Given the description of an element on the screen output the (x, y) to click on. 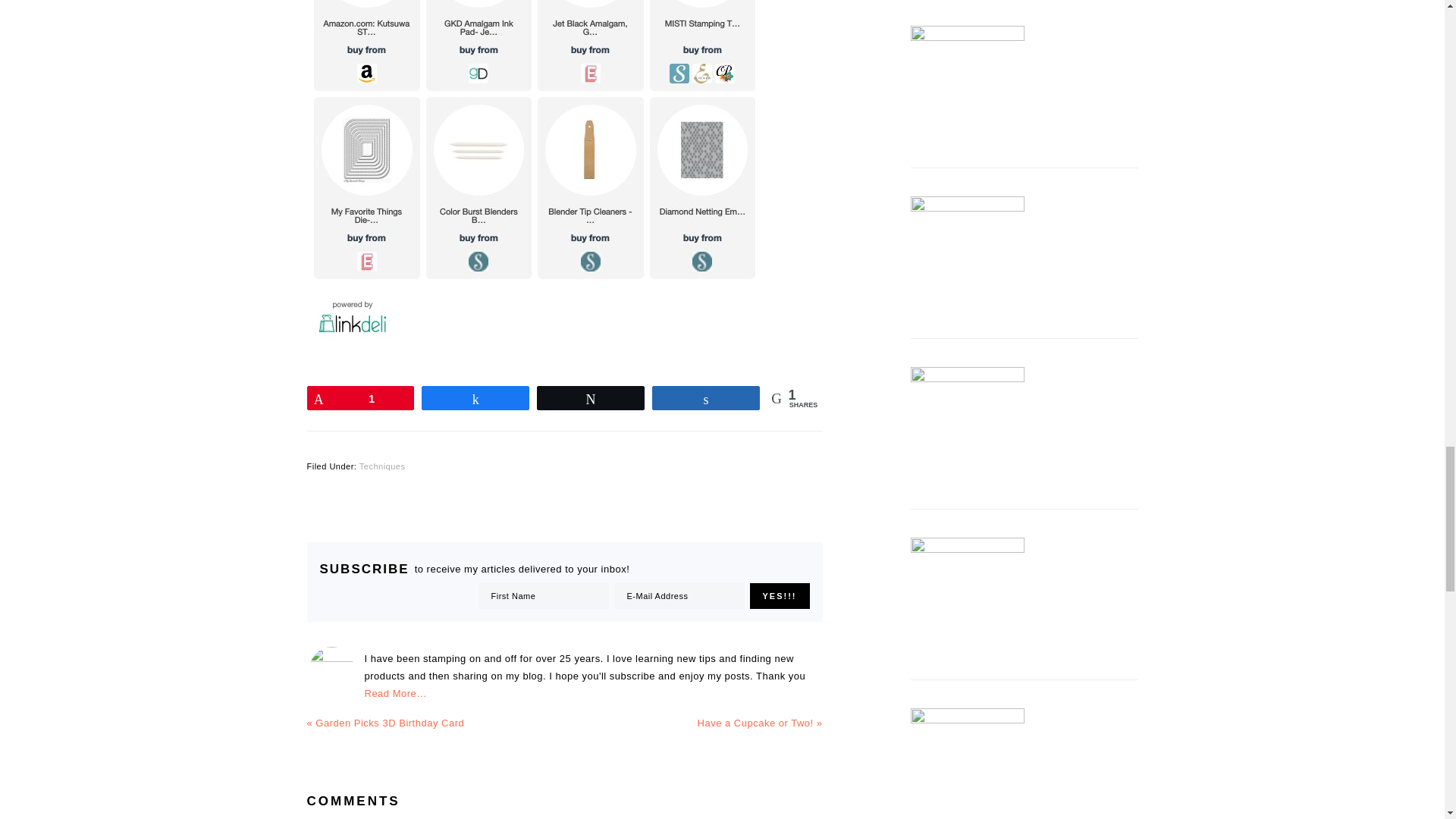
Techniques (382, 465)
Yes!!! (779, 596)
Yes!!! (779, 596)
1 (360, 397)
